Given the description of an element on the screen output the (x, y) to click on. 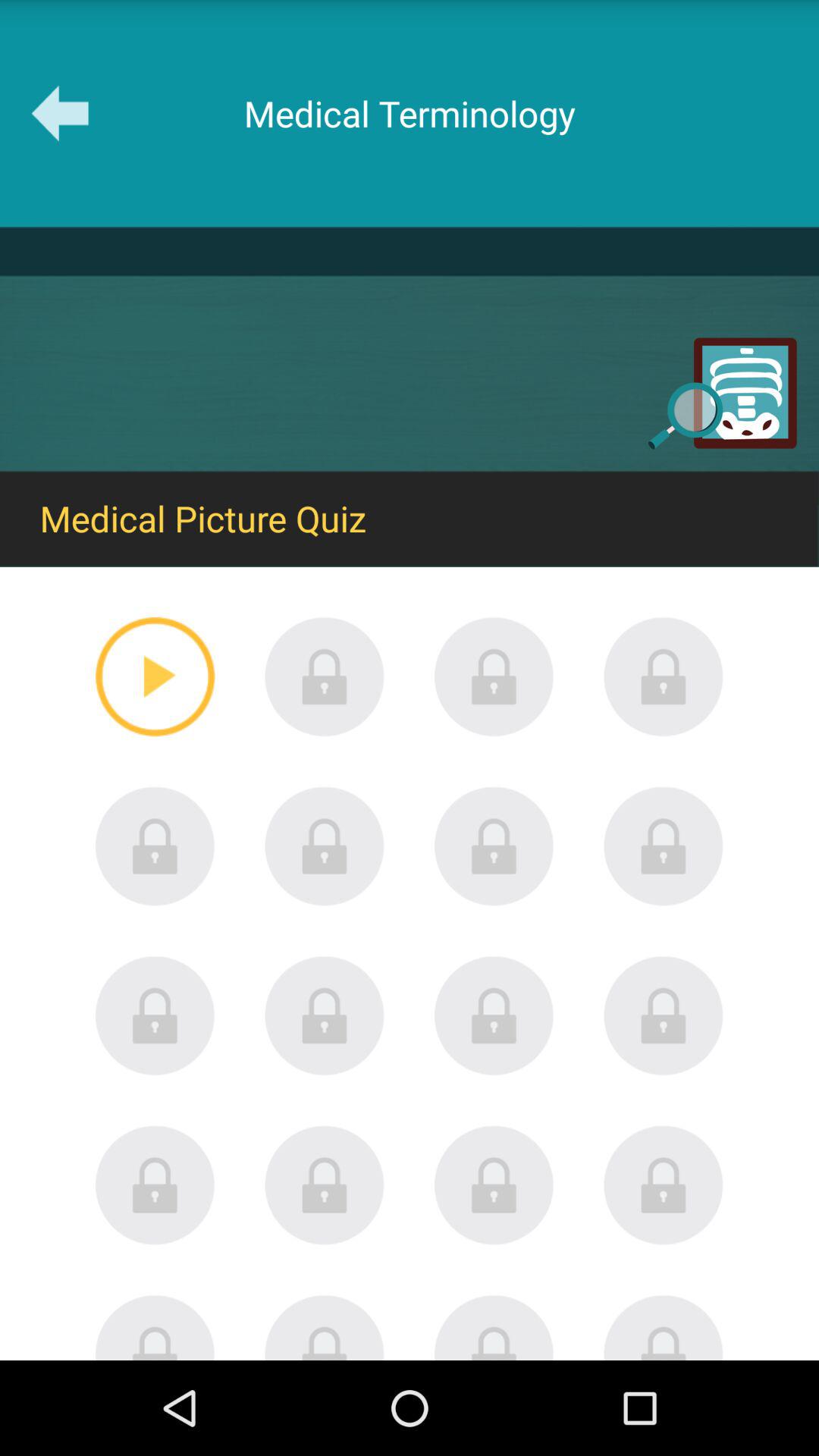
open menu lock slide button (493, 1327)
